Given the description of an element on the screen output the (x, y) to click on. 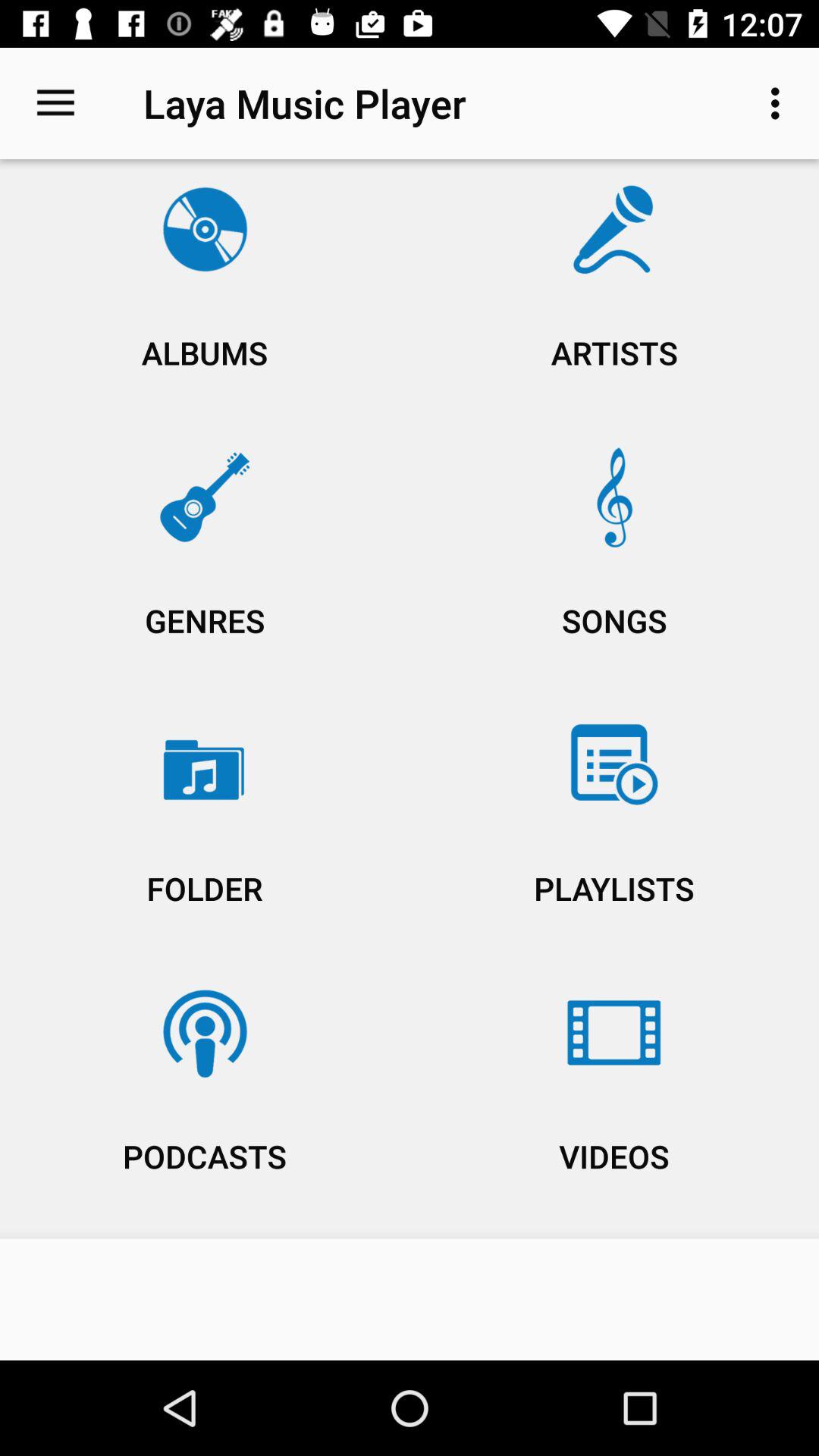
open the item below genres item (614, 832)
